Given the description of an element on the screen output the (x, y) to click on. 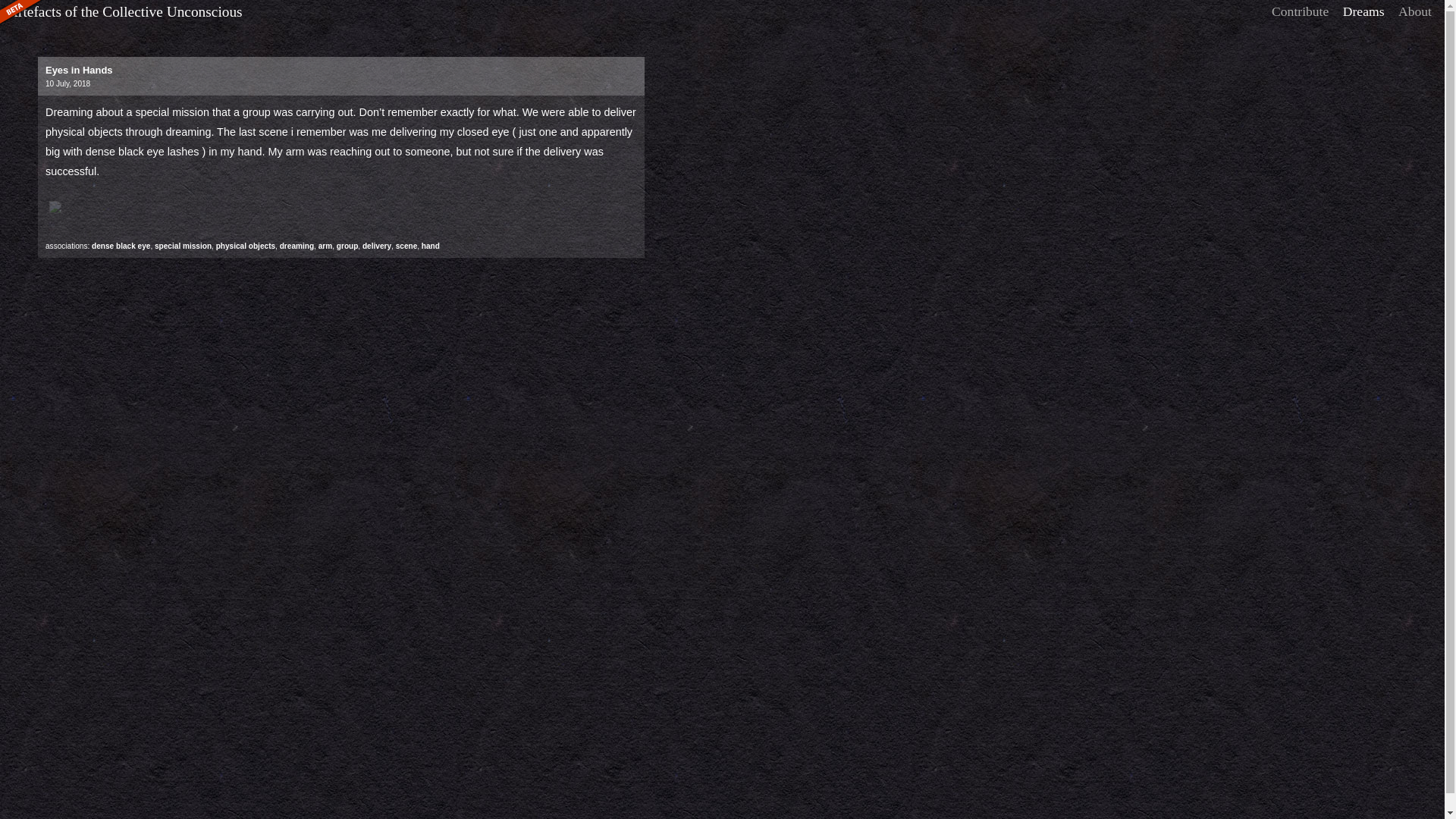
hand (430, 245)
physical objects (245, 245)
Contribute (1299, 11)
dense black eye (120, 245)
group (347, 245)
dreaming (296, 245)
About (1415, 11)
delivery (376, 245)
